Given the description of an element on the screen output the (x, y) to click on. 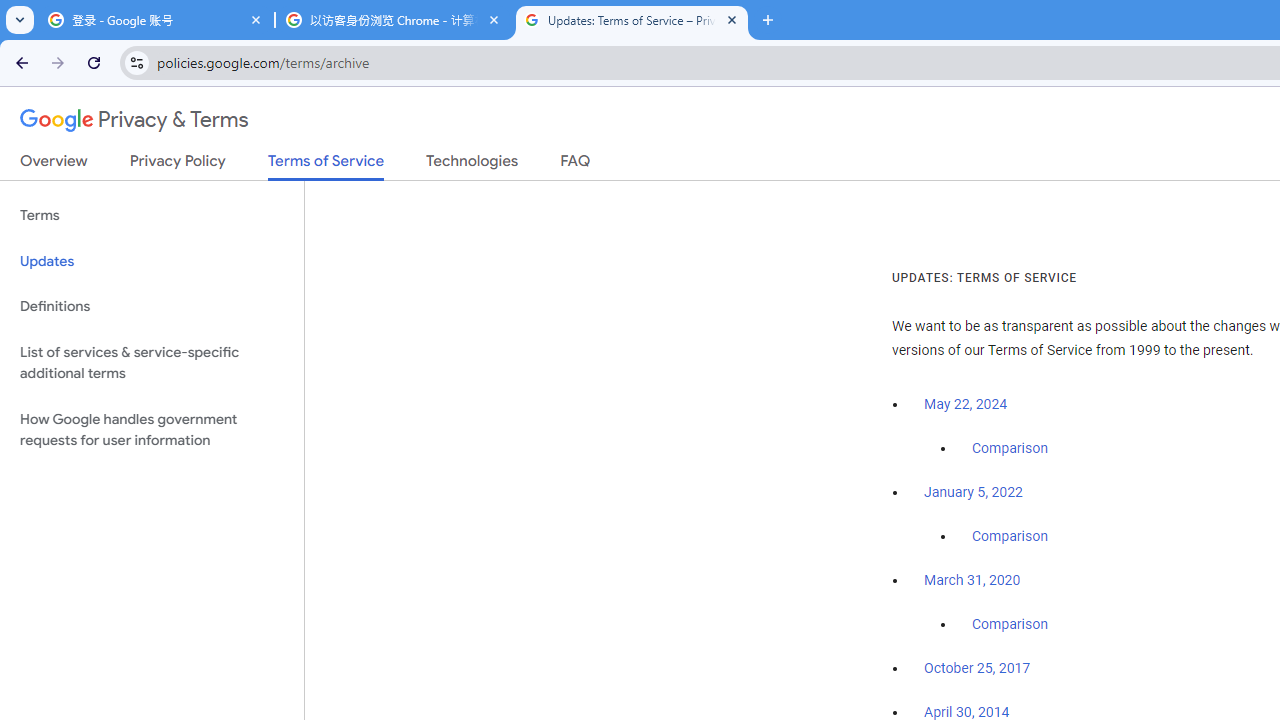
January 5, 2022 (973, 492)
October 25, 2017 (977, 669)
Definitions (152, 306)
May 22, 2024 (966, 404)
List of services & service-specific additional terms (152, 362)
